Given the description of an element on the screen output the (x, y) to click on. 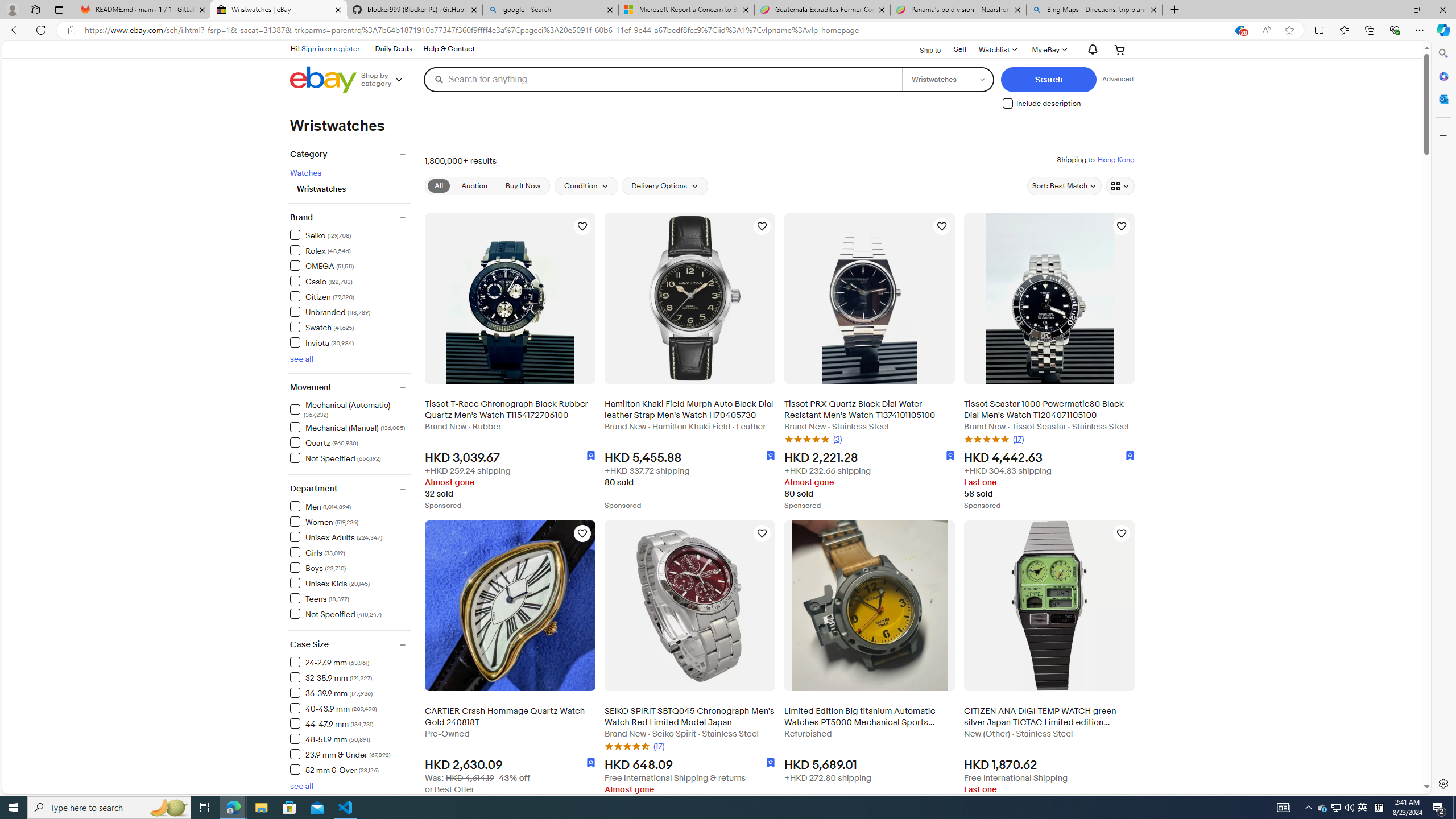
Category (349, 154)
This site has coupons! Shopping in Microsoft Edge, 20 (1239, 29)
Swatch (41,625) Items (321, 326)
Mechanical (Manual)(136,085) Items (349, 426)
Unisex Kids (20,145) Items (329, 583)
52 mm & Over (28,126) Items (333, 769)
Sell (960, 49)
Invicta(30,984) Items (349, 341)
